Given the description of an element on the screen output the (x, y) to click on. 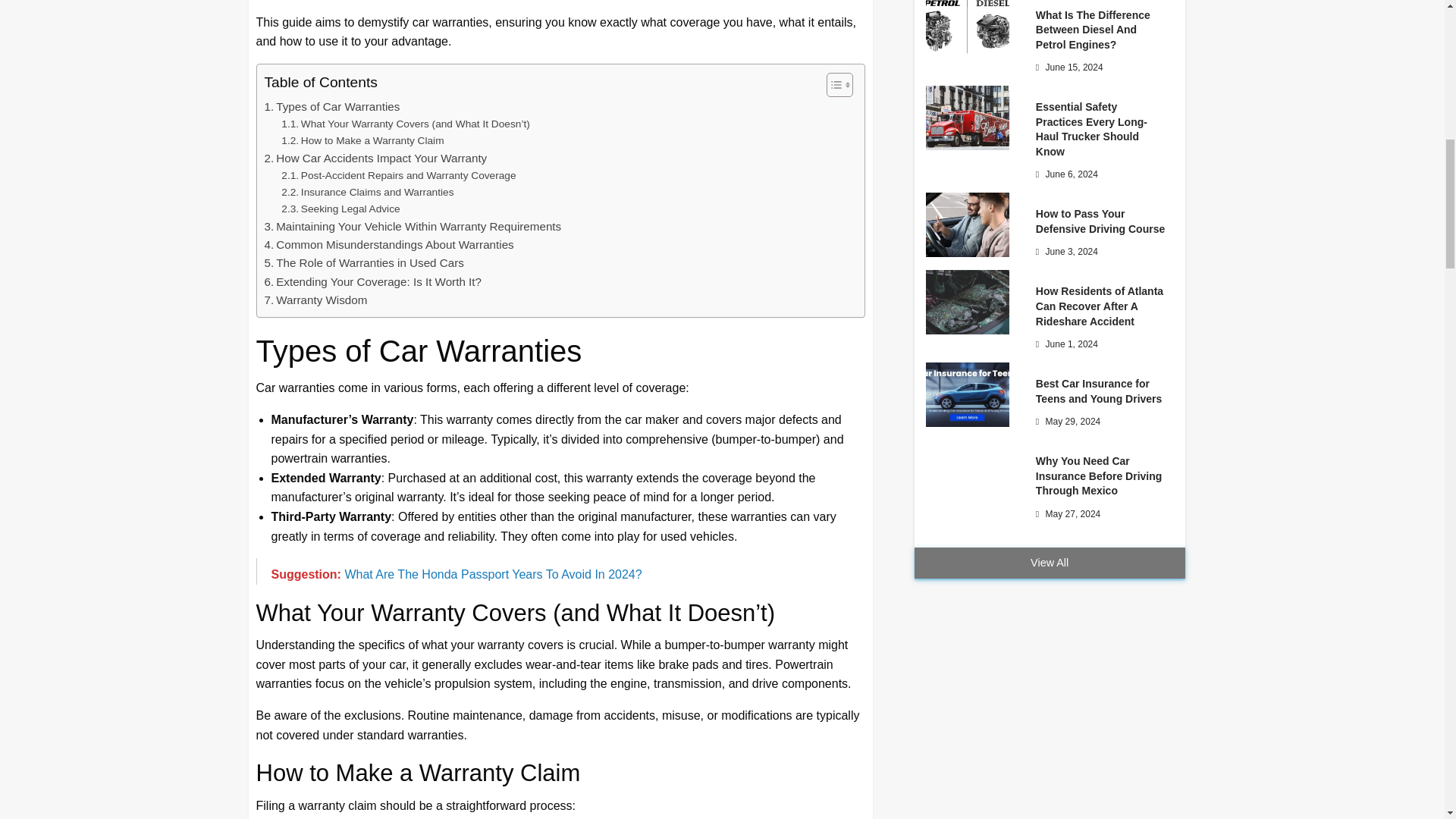
Warranty Wisdom (314, 300)
How Car Accidents Impact Your Warranty (374, 158)
Extending Your Coverage: Is It Worth It? (371, 281)
Seeking Legal Advice (339, 208)
Common Misunderstandings About Warranties (388, 244)
Insurance Claims and Warranties (366, 192)
Types of Car Warranties (330, 106)
Post-Accident Repairs and Warranty Coverage (398, 175)
Maintaining Your Vehicle Within Warranty Requirements (411, 226)
The Role of Warranties in Used Cars (363, 262)
